Given the description of an element on the screen output the (x, y) to click on. 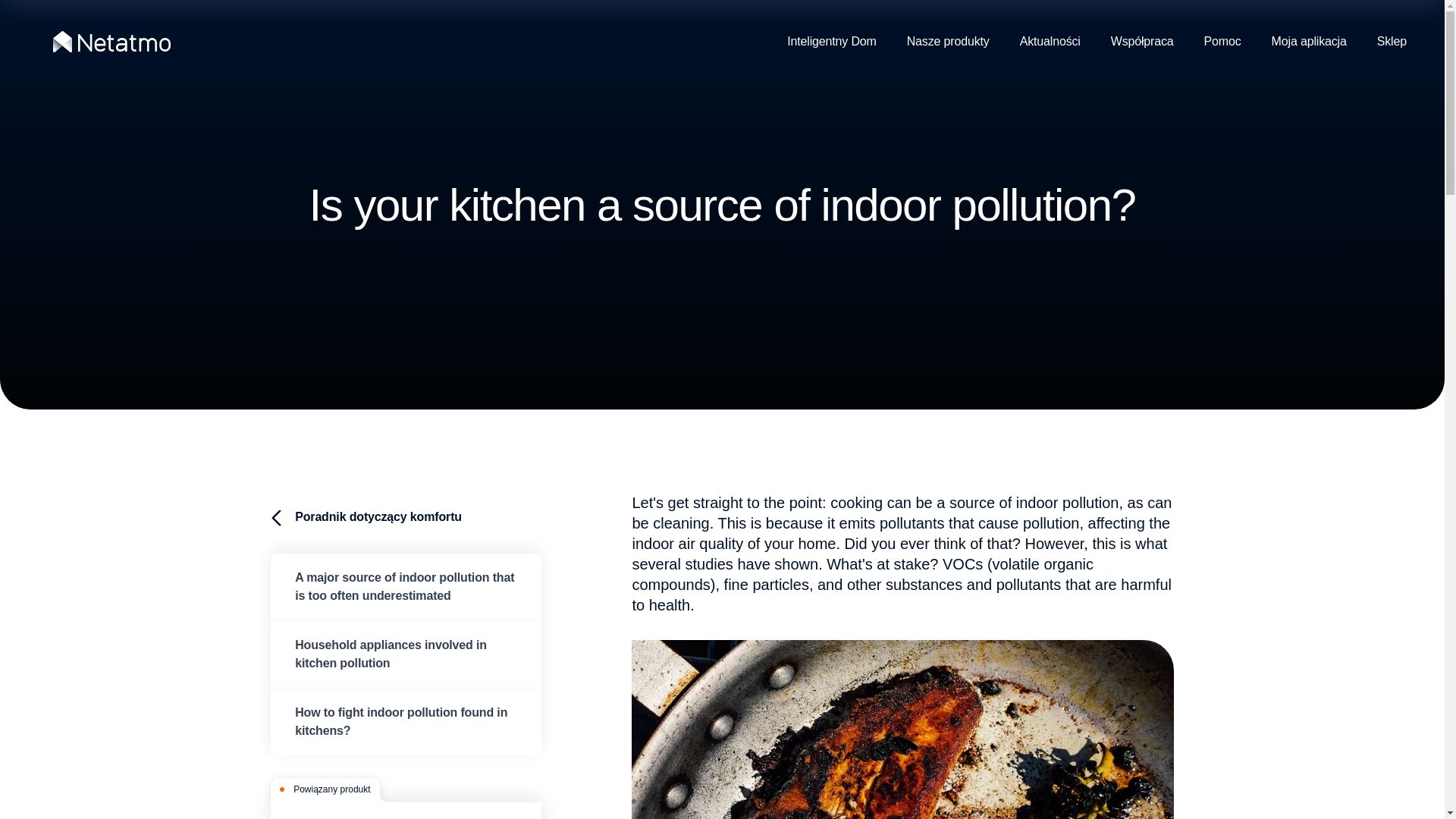
Nasze produkty (947, 41)
Moja aplikacja (1308, 41)
Inteligentny Dom (839, 41)
